Given the description of an element on the screen output the (x, y) to click on. 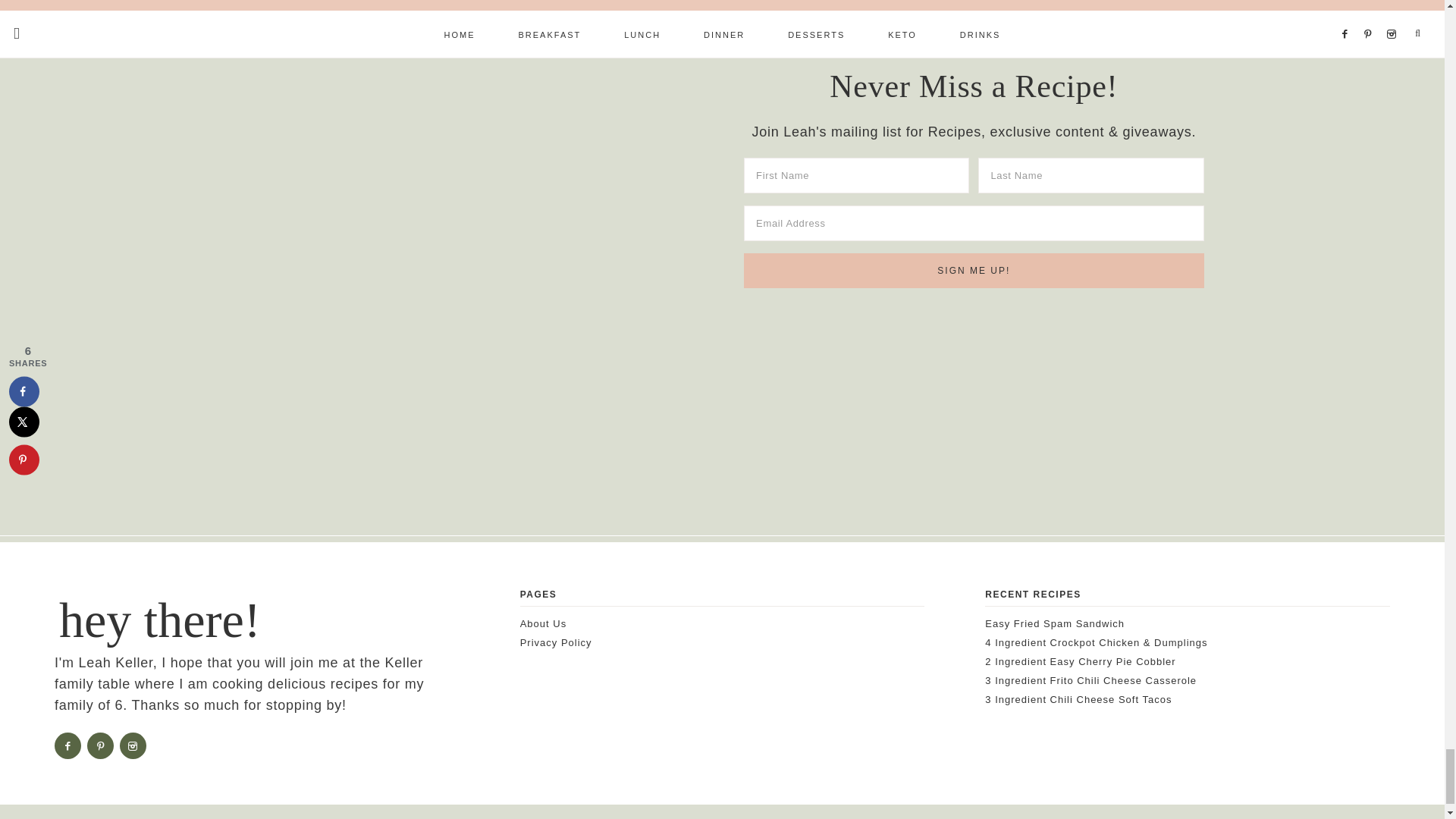
Sign Me Up! (974, 270)
